Given the description of an element on the screen output the (x, y) to click on. 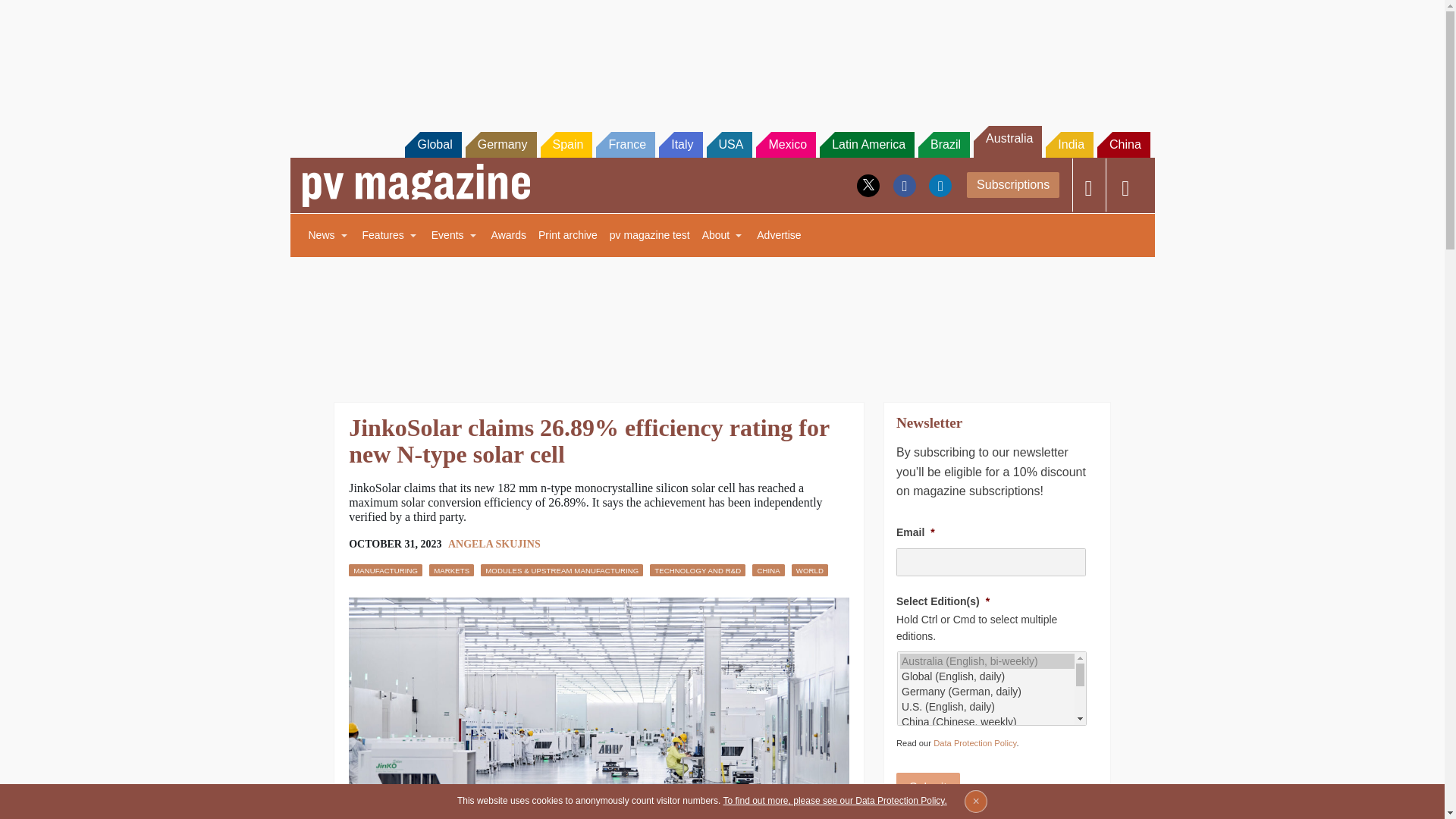
pv magazine - Photovoltaics Markets and Technology (415, 185)
Germany (501, 144)
India (1069, 144)
France (625, 144)
Global (432, 144)
China (1123, 144)
Australia (1008, 142)
Brazil (943, 144)
3rd party ad content (721, 320)
pv magazine - Photovoltaics Markets and Technology (415, 185)
Latin America (866, 144)
Submit (927, 788)
USA (729, 144)
Search (32, 15)
Subscriptions (1012, 184)
